Given the description of an element on the screen output the (x, y) to click on. 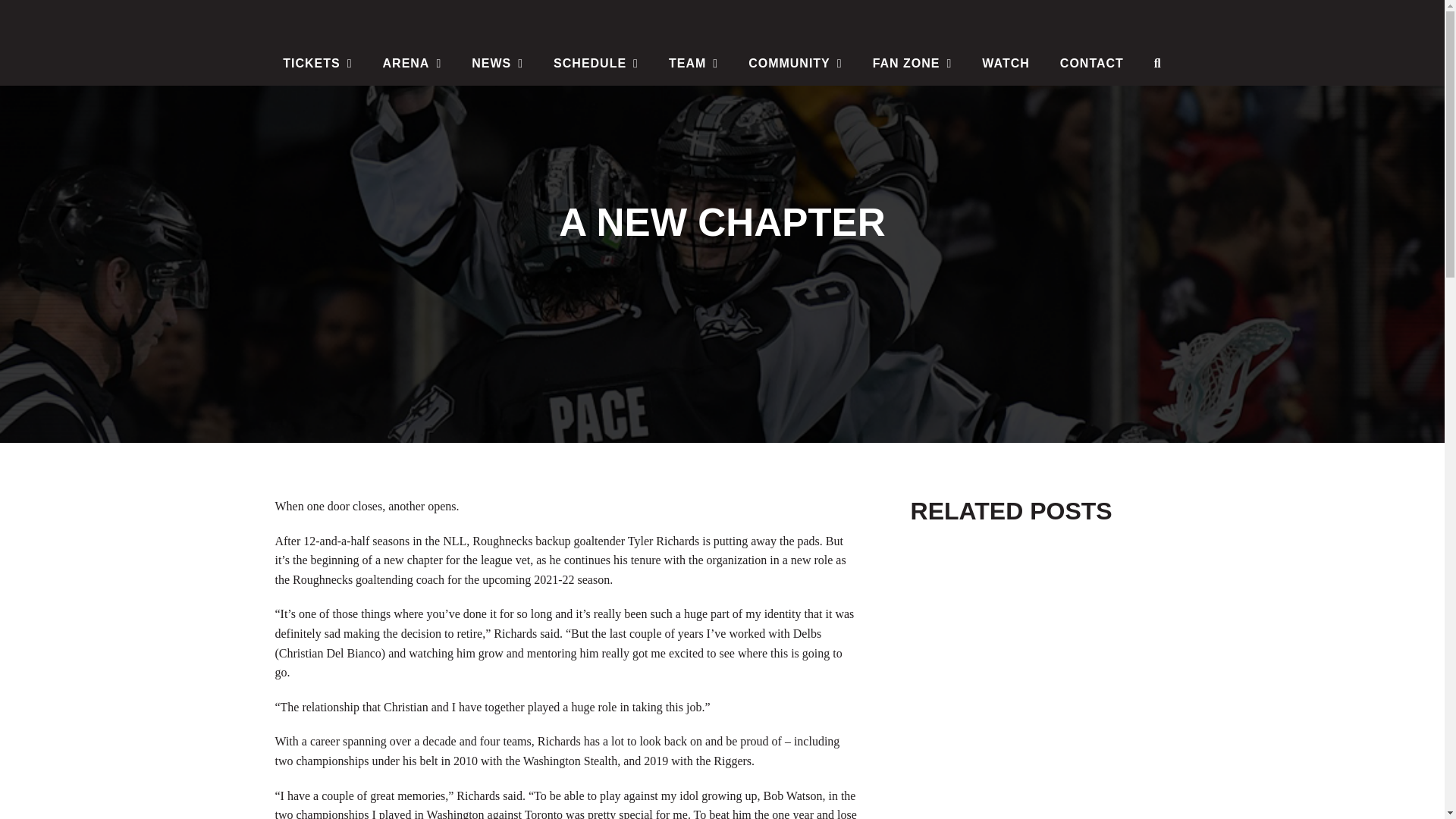
TICKETS (317, 64)
NEWS (496, 64)
SCHEDULE (596, 64)
TEAM (692, 64)
ARENA (412, 64)
